Given the description of an element on the screen output the (x, y) to click on. 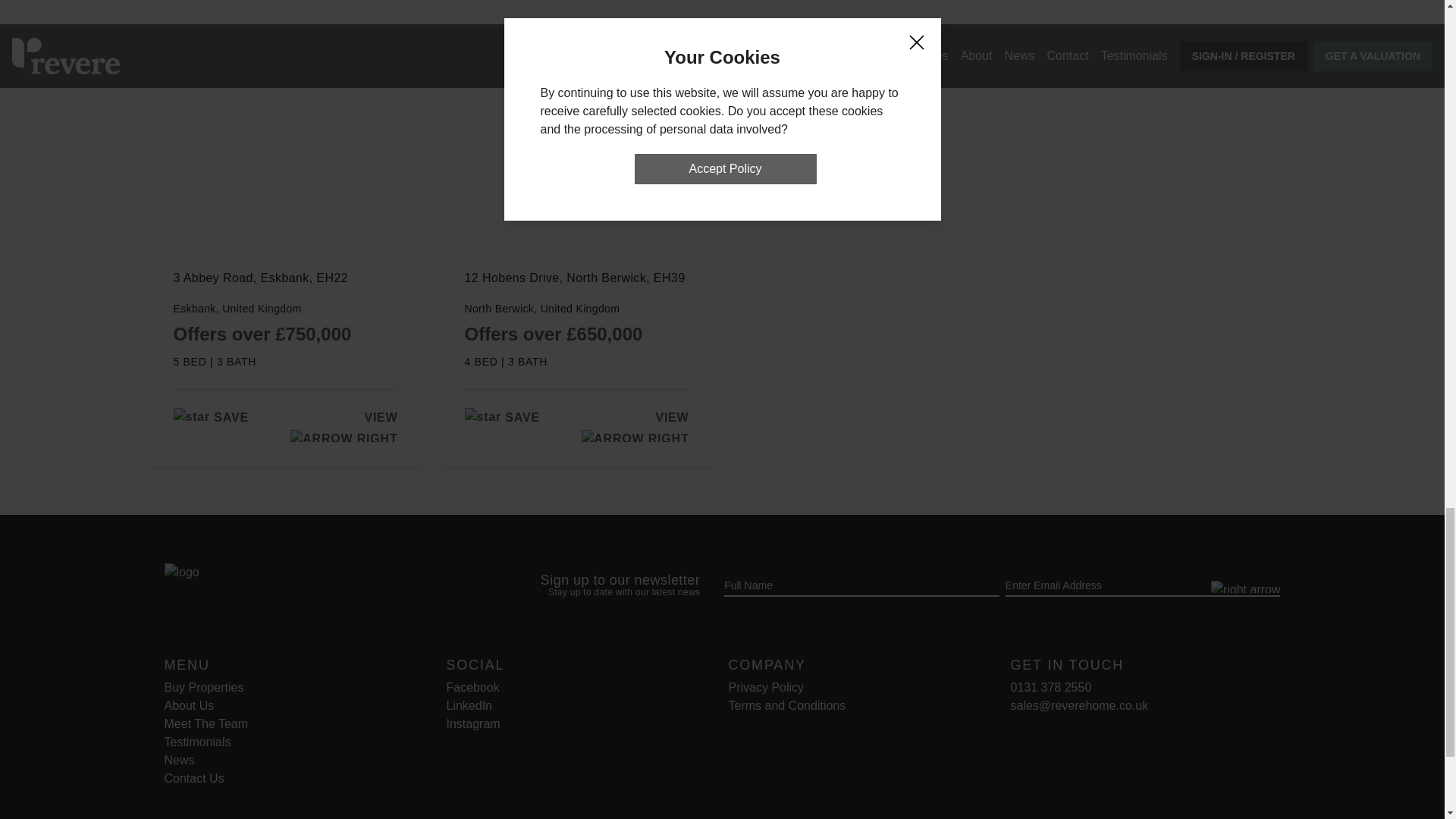
Back to homepage (302, 587)
Eskbank, United Kingdom (285, 308)
View About Us (188, 705)
View this property (341, 426)
Save (501, 417)
Save (210, 417)
North Berwick, United Kingdom (576, 308)
12 Hobens Drive, North Berwick, EH39 (576, 286)
View Buy Properties (203, 686)
3 Abbey Road, Eskbank, EH22 (285, 286)
